Given the description of an element on the screen output the (x, y) to click on. 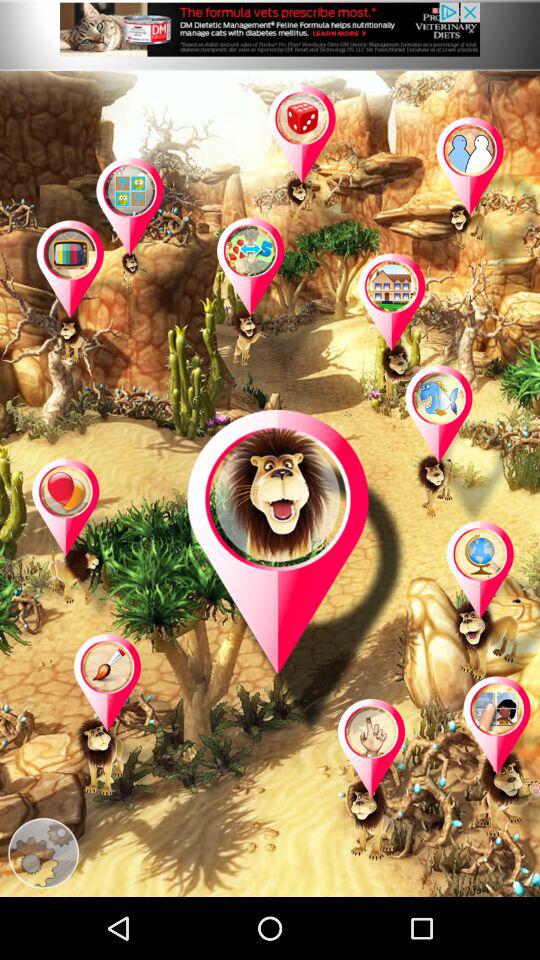
home (412, 335)
